Given the description of an element on the screen output the (x, y) to click on. 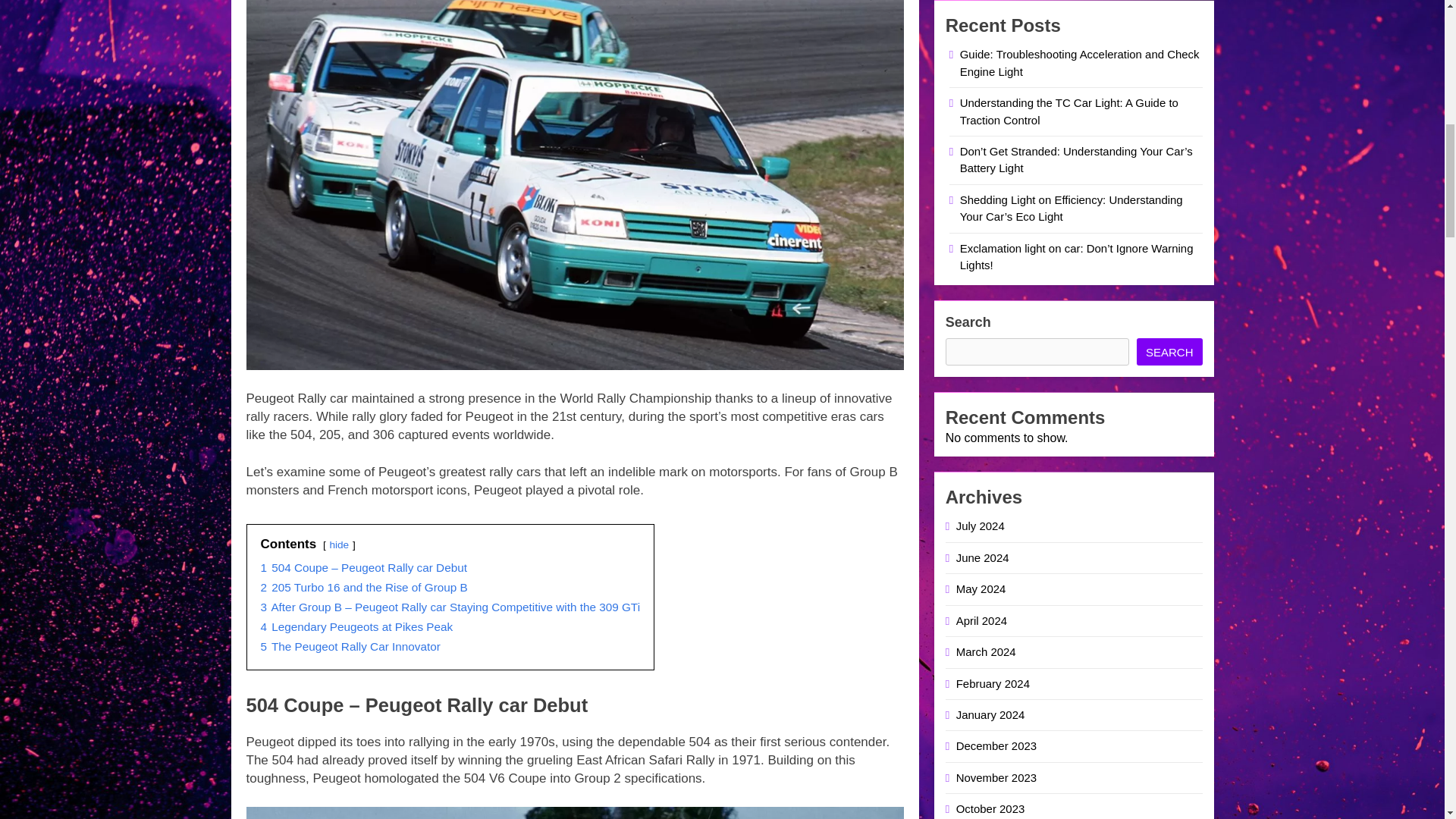
4 Legendary Peugeots at Pikes Peak (356, 626)
hide (339, 544)
5 The Peugeot Rally Car Innovator (350, 645)
2 205 Turbo 16 and the Rise of Group B (363, 586)
